Given the description of an element on the screen output the (x, y) to click on. 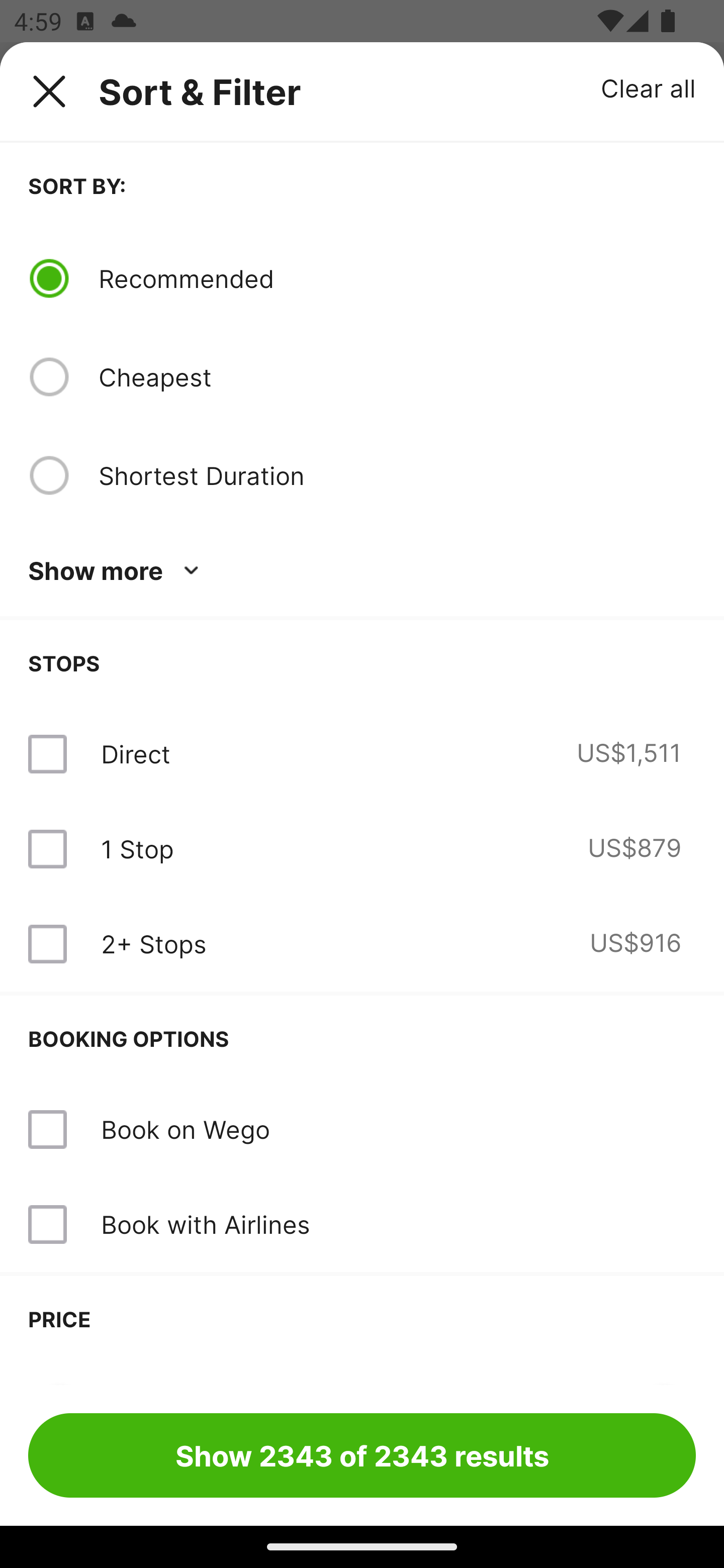
Clear all (648, 87)
Recommended  (396, 278)
Cheapest (396, 377)
Shortest Duration (396, 474)
Show more (116, 570)
Direct US$1,511 (362, 754)
Direct (135, 753)
1 Stop US$879 (362, 848)
1 Stop (136, 849)
2+ Stops US$916 (362, 943)
2+ Stops (153, 943)
Book on Wego (362, 1129)
Book on Wego (184, 1128)
Book with Airlines (362, 1224)
Book with Airlines (204, 1224)
Show 2343 of 2343 results (361, 1454)
